Given the description of an element on the screen output the (x, y) to click on. 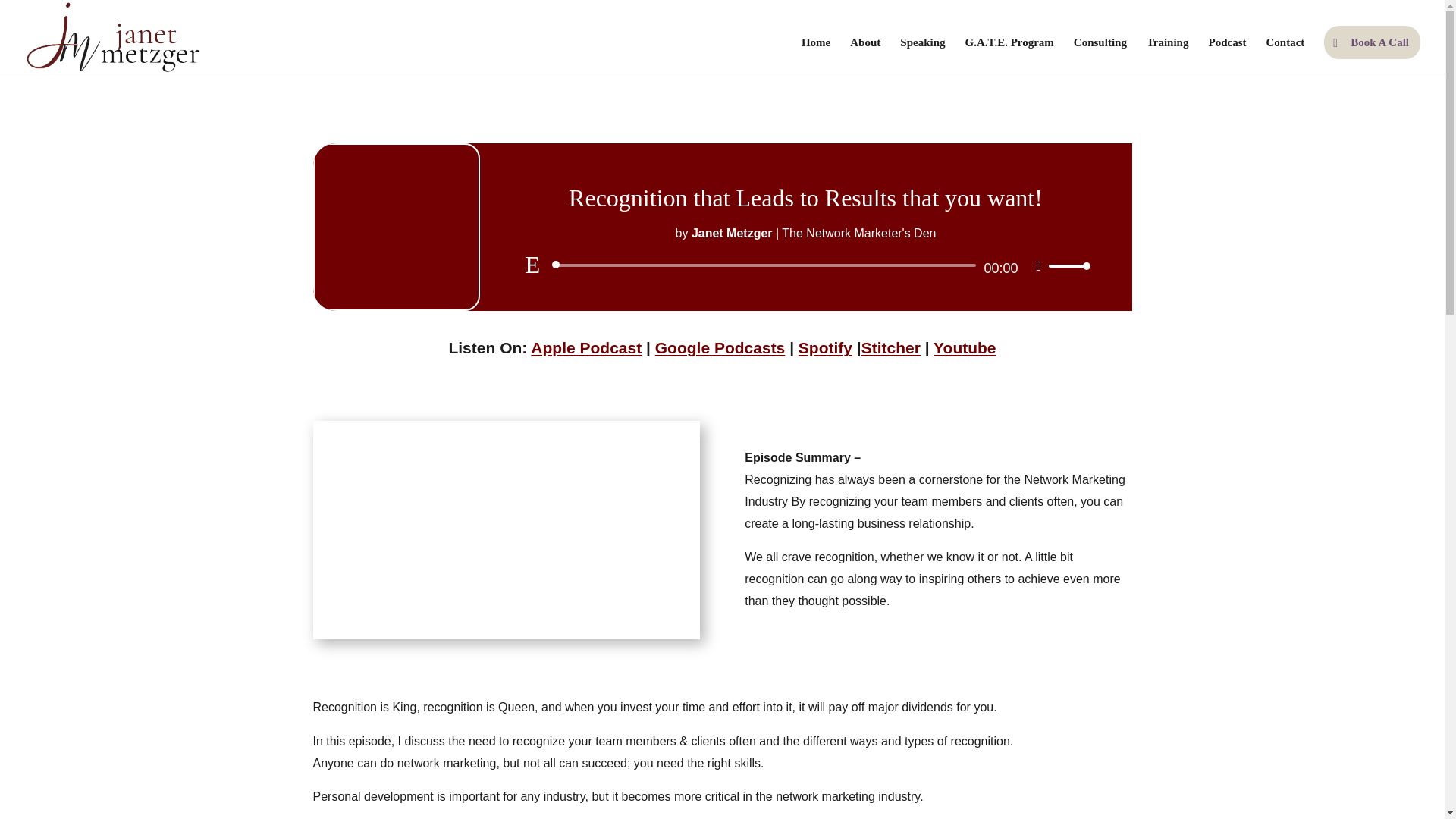
Recognition that Leads to Results that you want! (505, 529)
Youtube (964, 347)
Stitcher (890, 347)
Speaking (921, 54)
Apple Podcast (586, 347)
Podcast (1227, 54)
Book A Call (1372, 41)
G.A.T.E. Program (1007, 54)
Spotify (824, 347)
Google Podcasts (720, 347)
Contact (1284, 54)
Consulting (1100, 54)
Training (1168, 54)
